Given the description of an element on the screen output the (x, y) to click on. 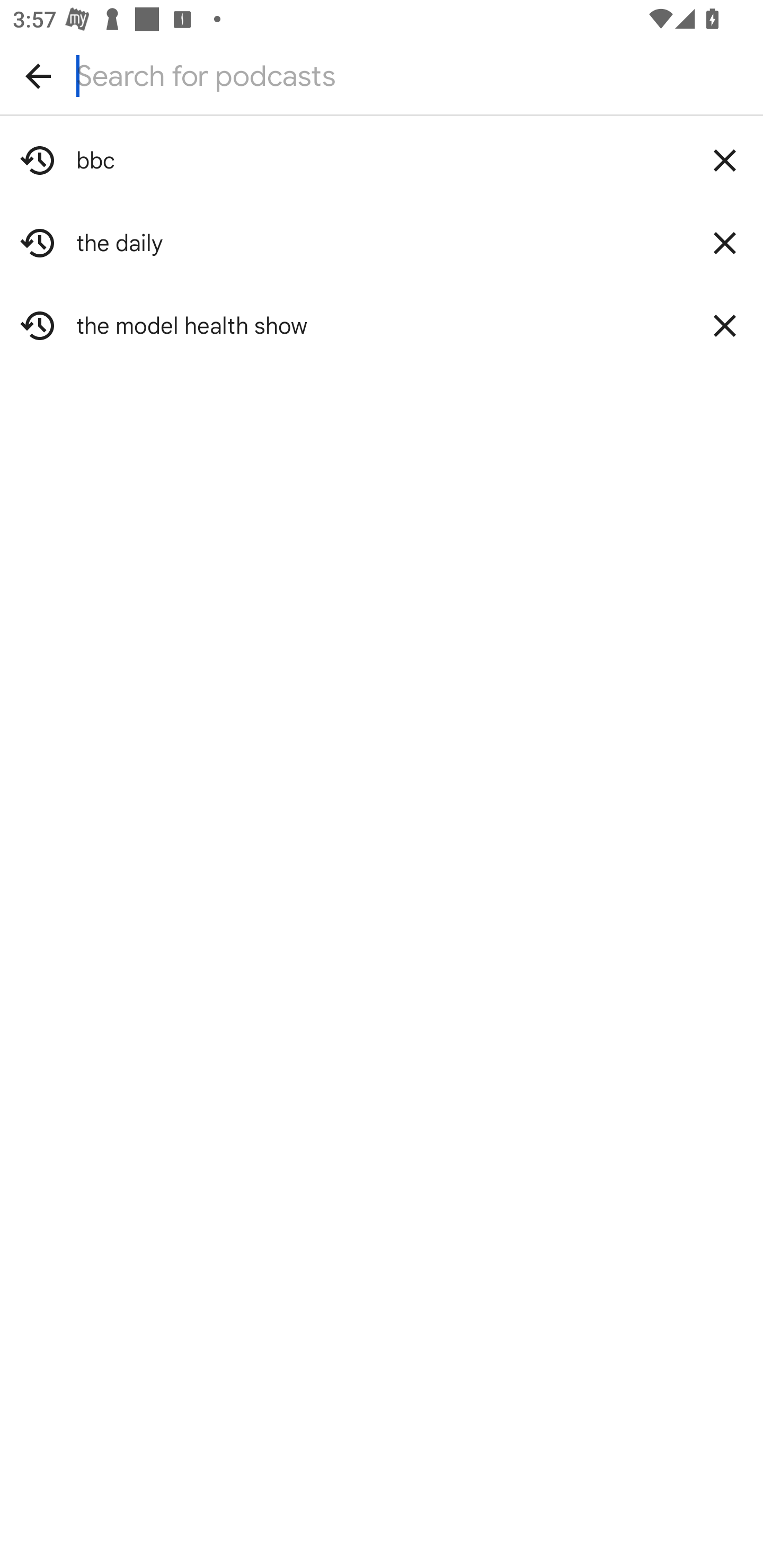
Search for podcasts (381, 75)
bbc (381, 160)
the daily (381, 242)
the model health show (381, 324)
